Given the description of an element on the screen output the (x, y) to click on. 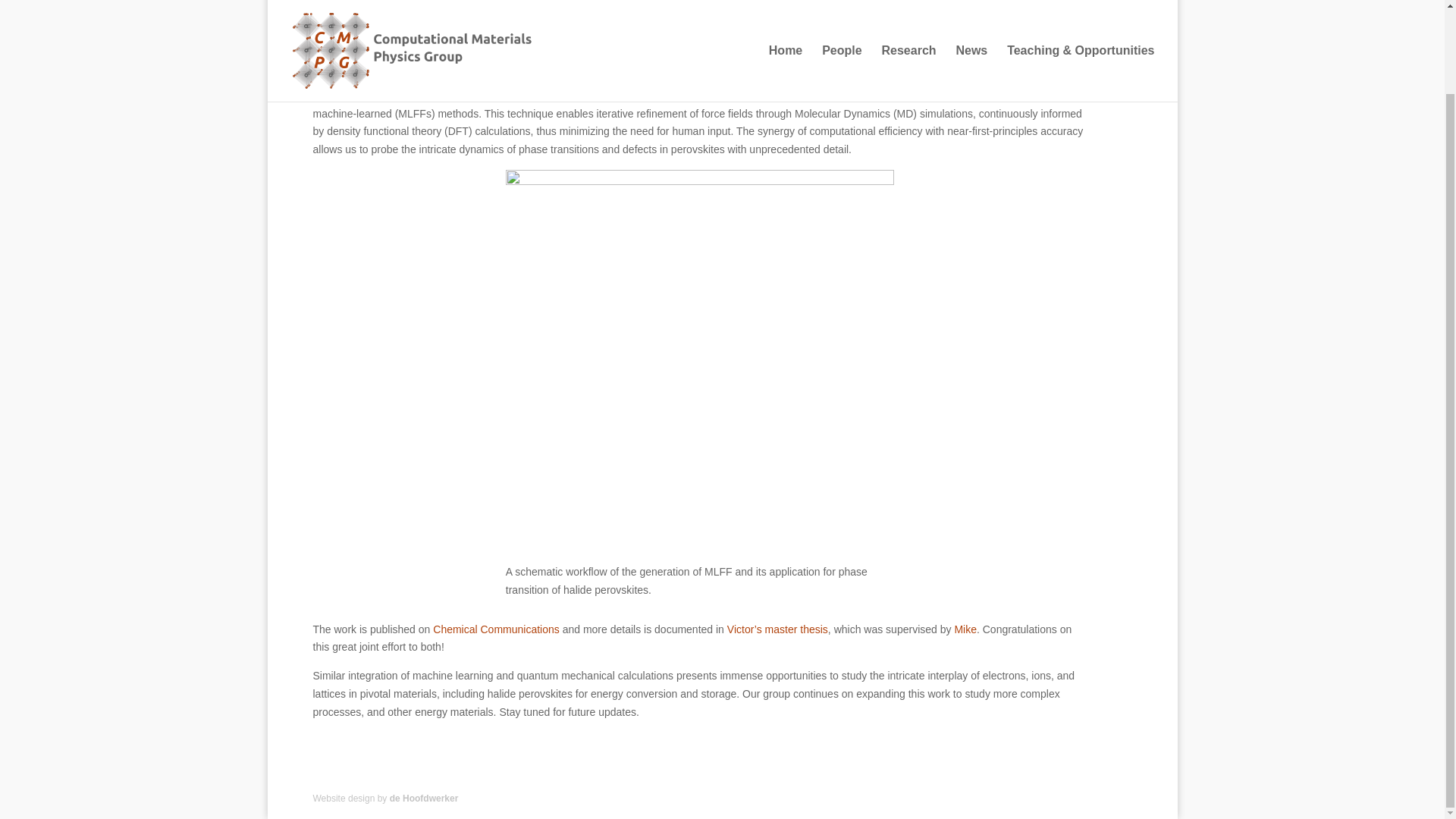
Mike (964, 629)
Research (908, 3)
News (971, 3)
Chemical Communications (495, 629)
Home (785, 3)
People (841, 3)
Mike (765, 95)
Victor (814, 95)
